Given the description of an element on the screen output the (x, y) to click on. 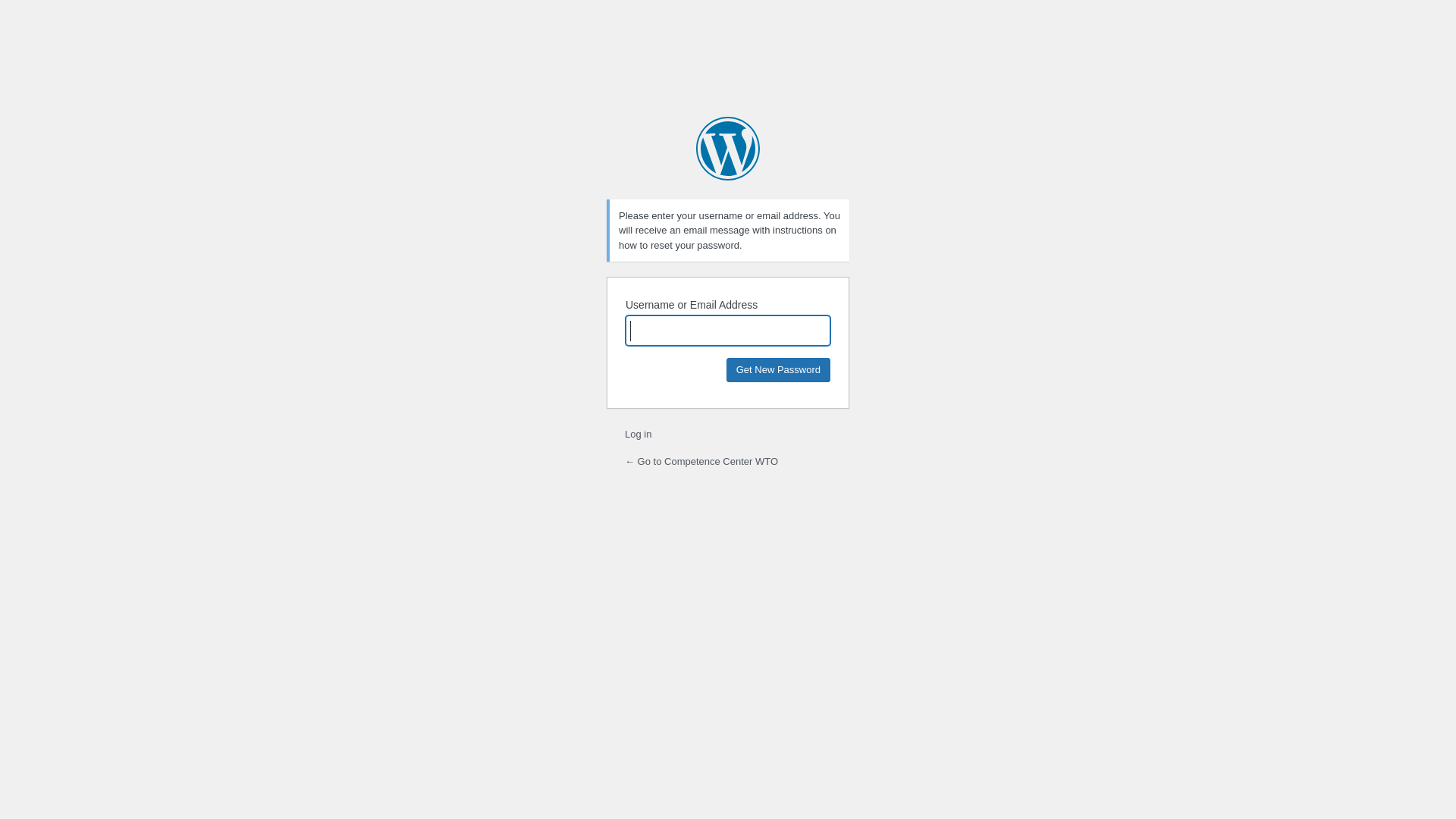
Get New Password Element type: text (778, 369)
Log in Element type: text (637, 433)
Powered by WordPress Element type: text (727, 148)
